Given the description of an element on the screen output the (x, y) to click on. 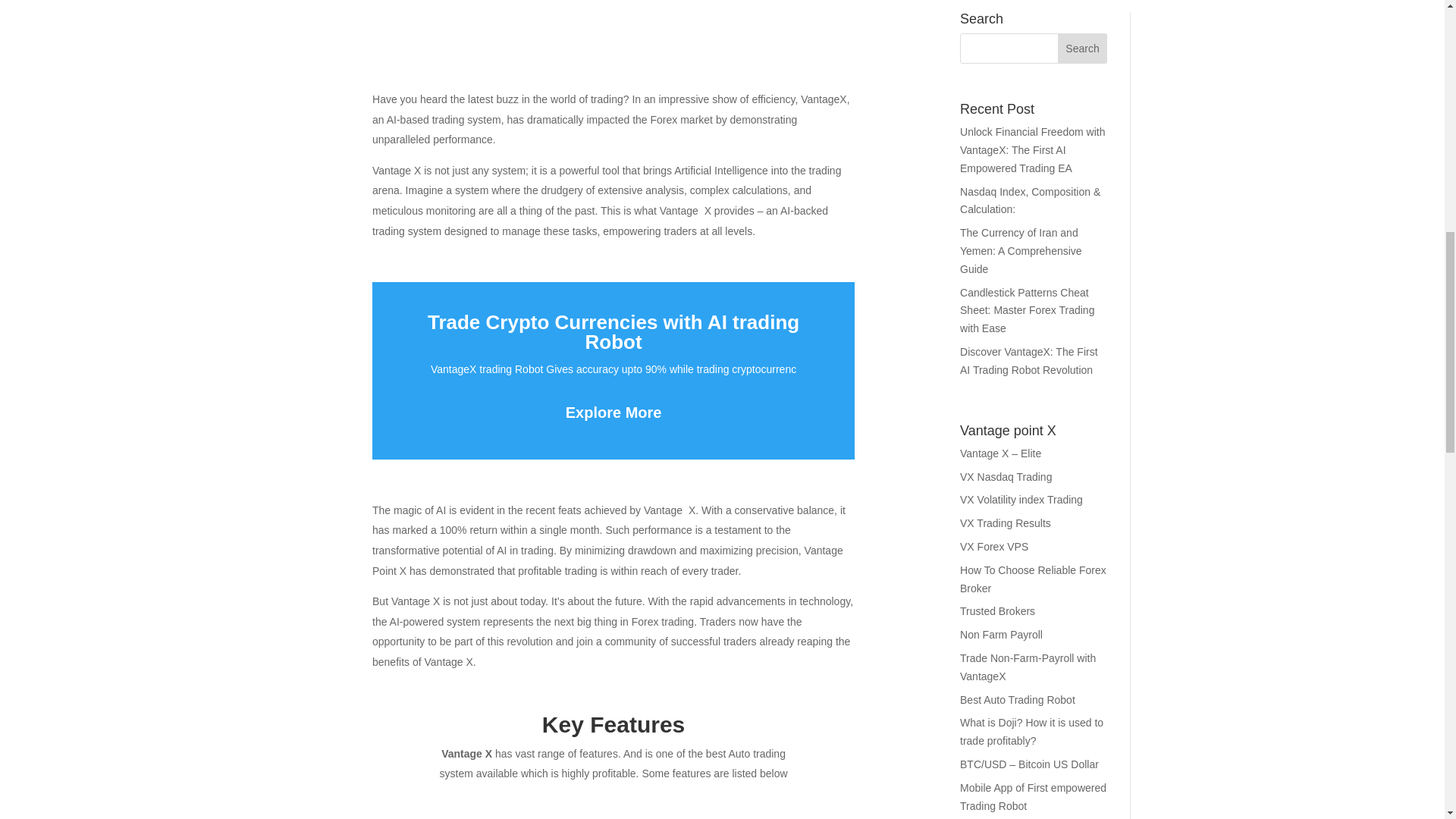
Search (1083, 48)
